Given the description of an element on the screen output the (x, y) to click on. 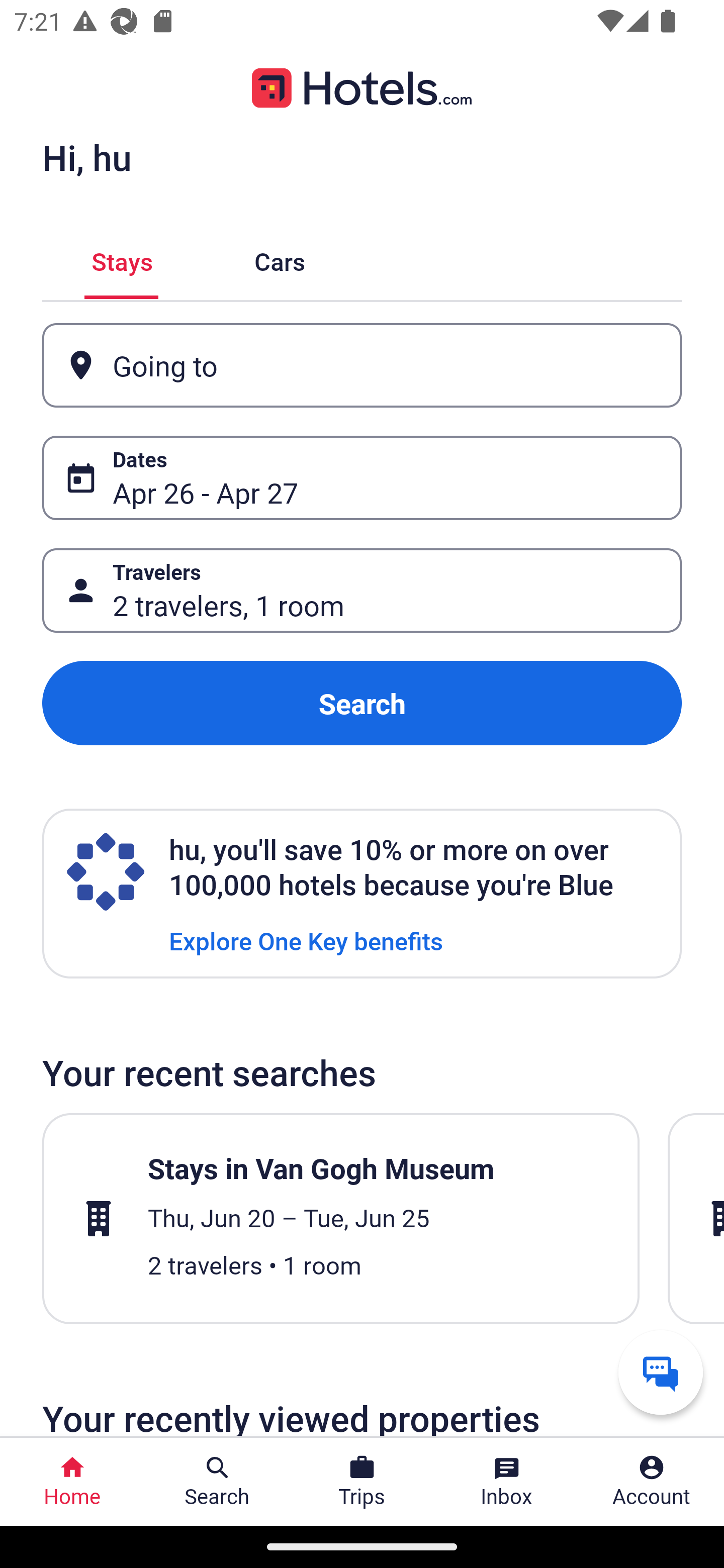
Hi, hu (86, 156)
Cars (279, 259)
Going to Button (361, 365)
Dates Button Apr 26 - Apr 27 (361, 477)
Travelers Button 2 travelers, 1 room (361, 590)
Search (361, 702)
Get help from a virtual agent (660, 1371)
Search Search Button (216, 1481)
Trips Trips Button (361, 1481)
Inbox Inbox Button (506, 1481)
Account Profile. Button (651, 1481)
